Given the description of an element on the screen output the (x, y) to click on. 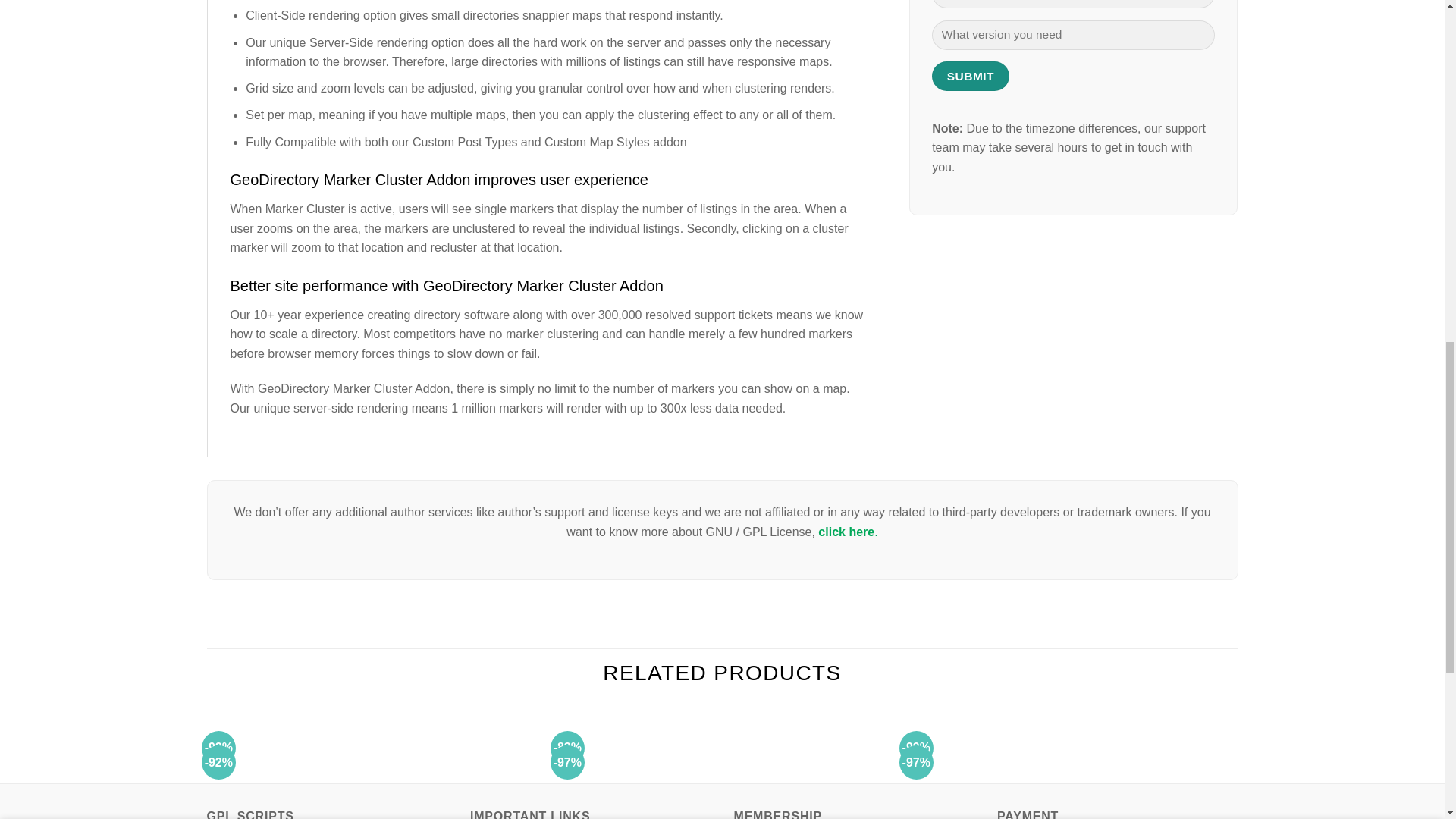
Submit (970, 75)
click here (846, 531)
Submit (970, 75)
